Given the description of an element on the screen output the (x, y) to click on. 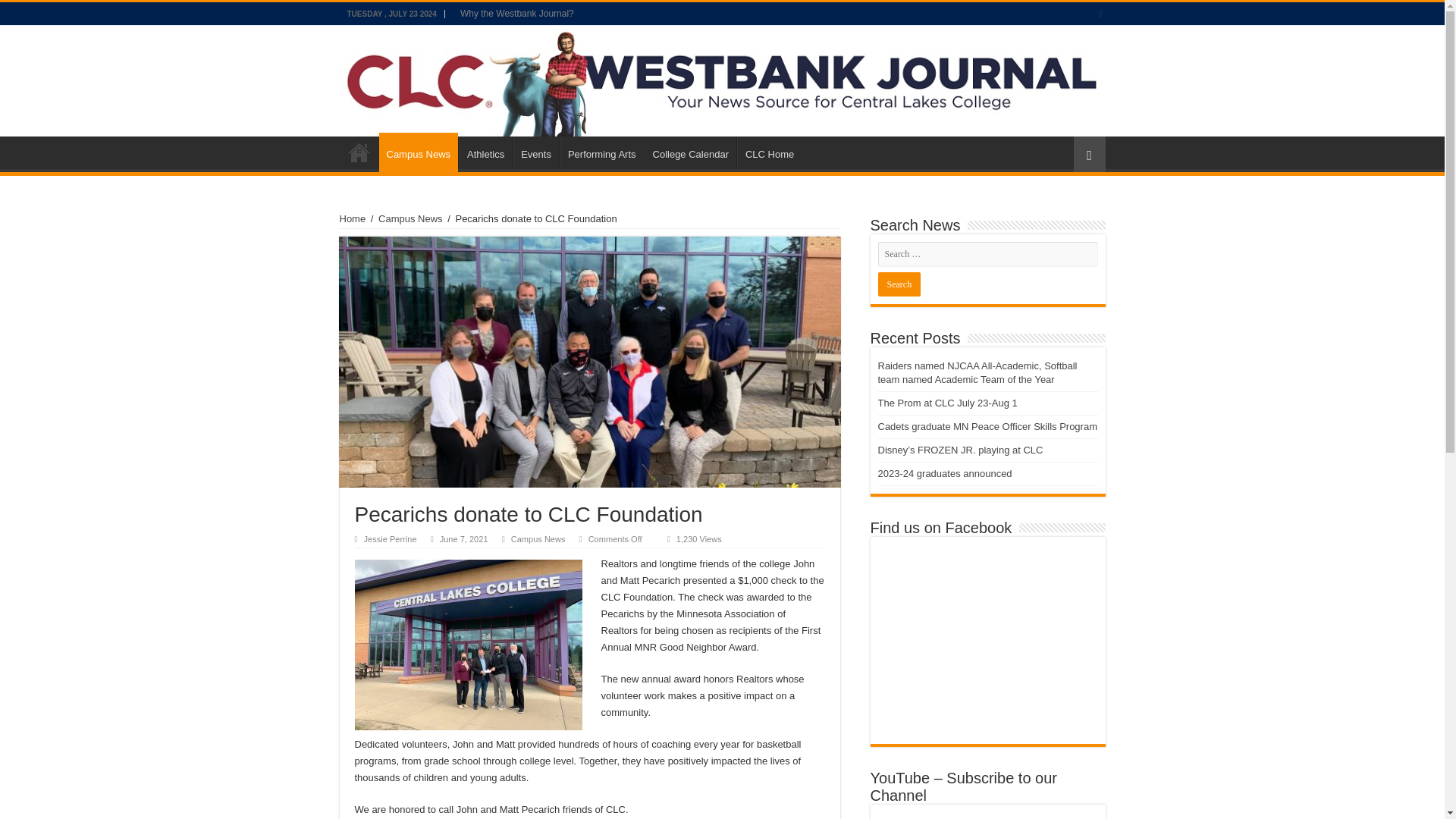
Campus News (410, 218)
Search (899, 283)
Campus News (538, 538)
Athletics (485, 152)
Home (352, 218)
Why the Westbank Journal? (516, 13)
WBJ Home (358, 152)
Search (899, 283)
Jessie Perrine (390, 538)
Cadets graduate MN Peace Officer Skills Program (987, 426)
Events (535, 152)
College Calendar (690, 152)
The Prom at CLC July 23-Aug 1 (947, 402)
CLC News (722, 80)
Performing Arts (601, 152)
